Given the description of an element on the screen output the (x, y) to click on. 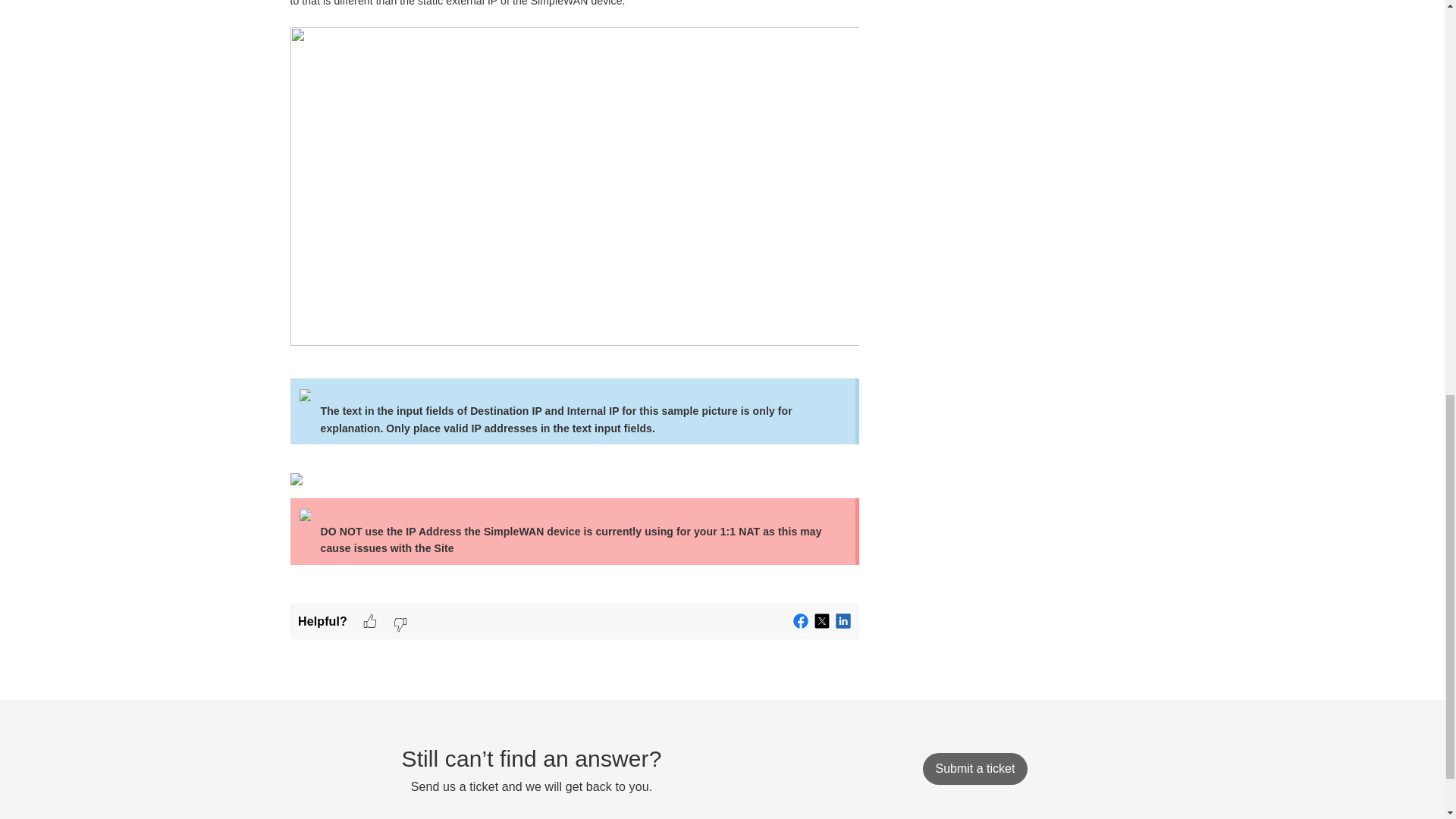
Facebook (800, 621)
Twitter (821, 621)
LinkedIn (842, 621)
